Given the description of an element on the screen output the (x, y) to click on. 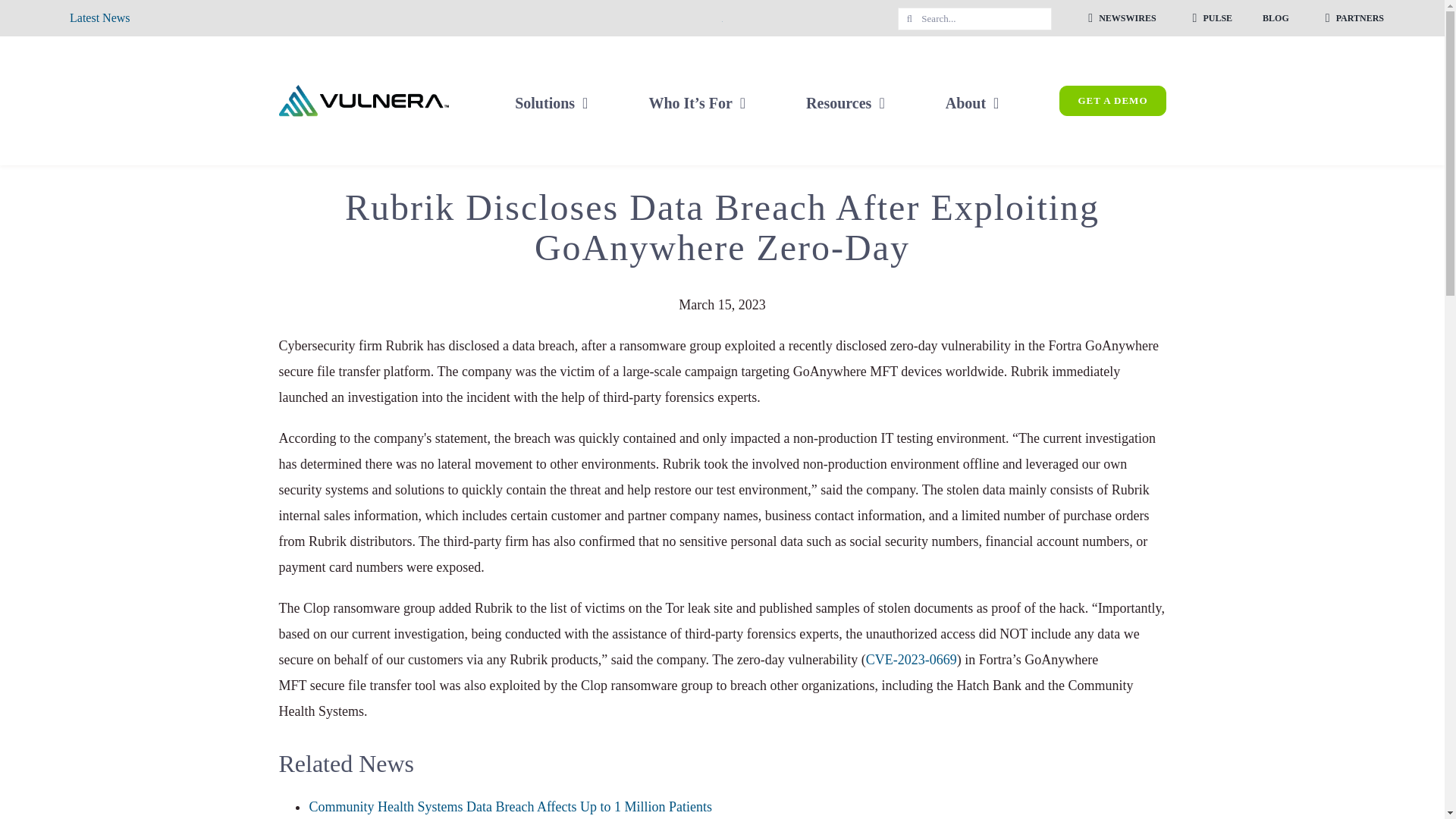
PULSE (1209, 18)
Solutions (551, 100)
PARTNERS (1351, 18)
NEWSWIRES (1118, 18)
